Given the description of an element on the screen output the (x, y) to click on. 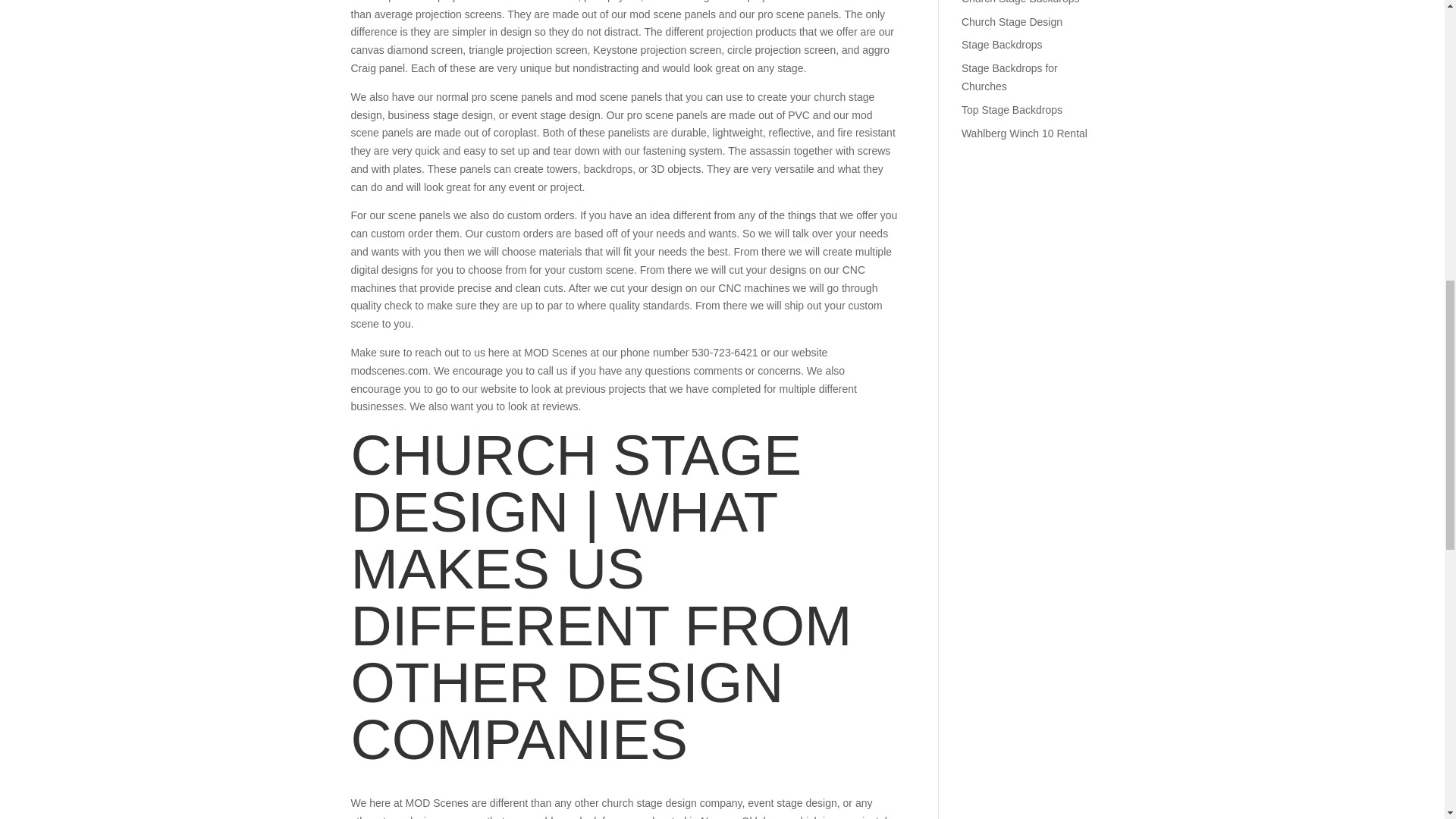
Top Stage Backdrops (1011, 110)
Stage Backdrops (1001, 44)
Stage Backdrops for Churches (1009, 77)
Church Stage Design (1011, 21)
Church Stage Backdrops (1020, 2)
